Given the description of an element on the screen output the (x, y) to click on. 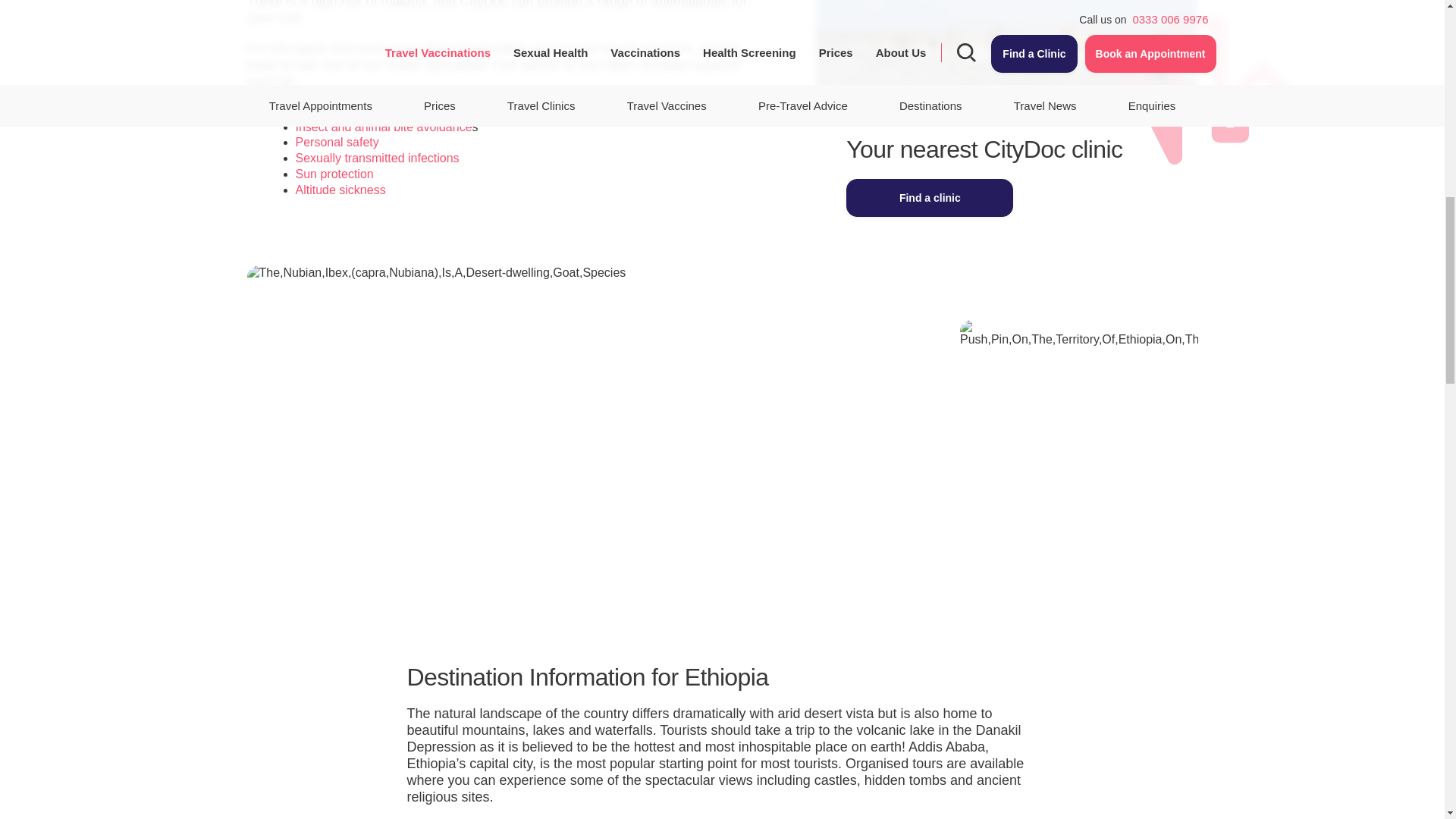
Food and water hygiene (360, 110)
Personal safety (336, 141)
Sexually transmitted infections (377, 157)
Insect and animal bite avoidance (383, 126)
